Given the description of an element on the screen output the (x, y) to click on. 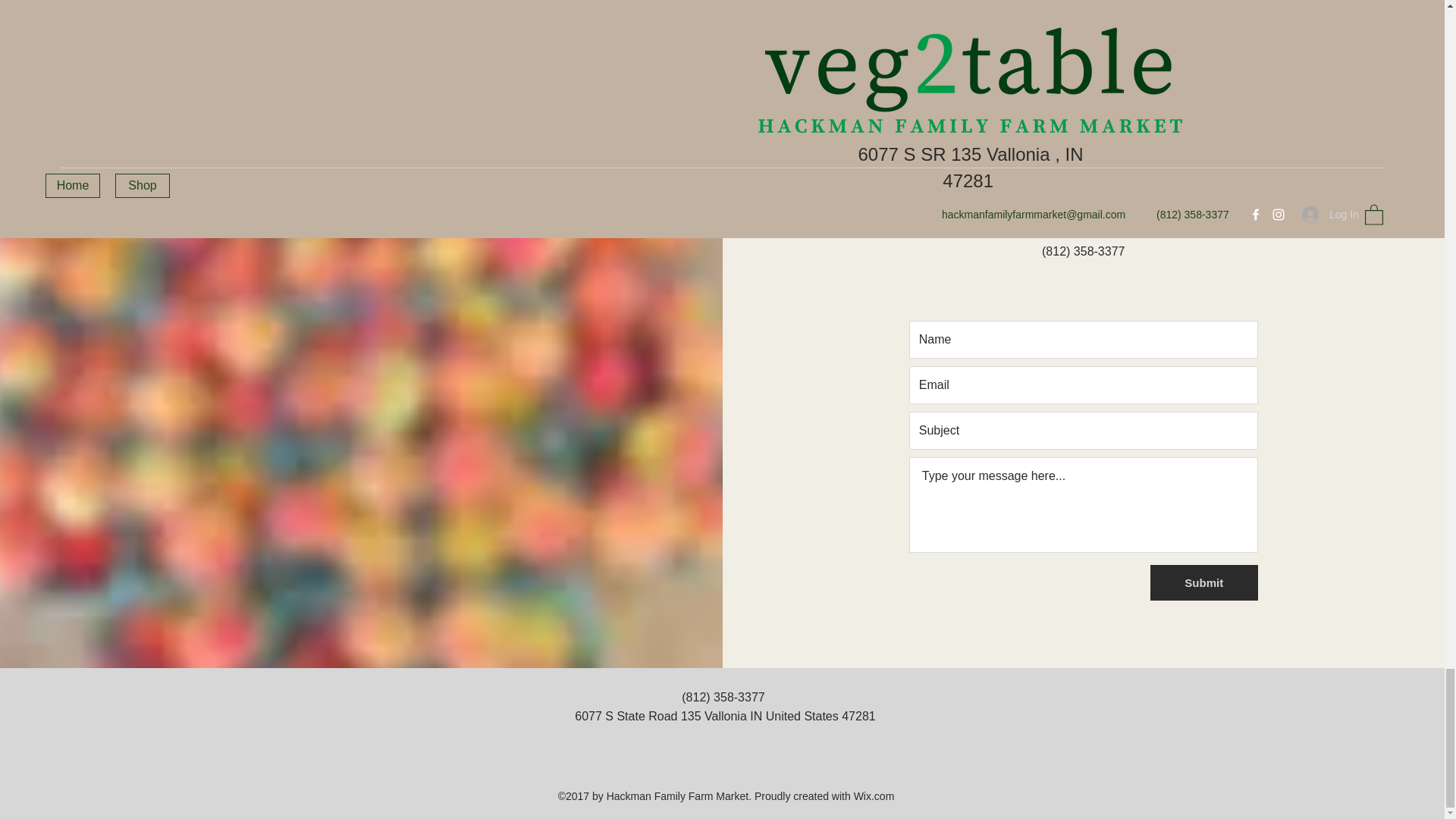
Submit (1203, 582)
